Given the description of an element on the screen output the (x, y) to click on. 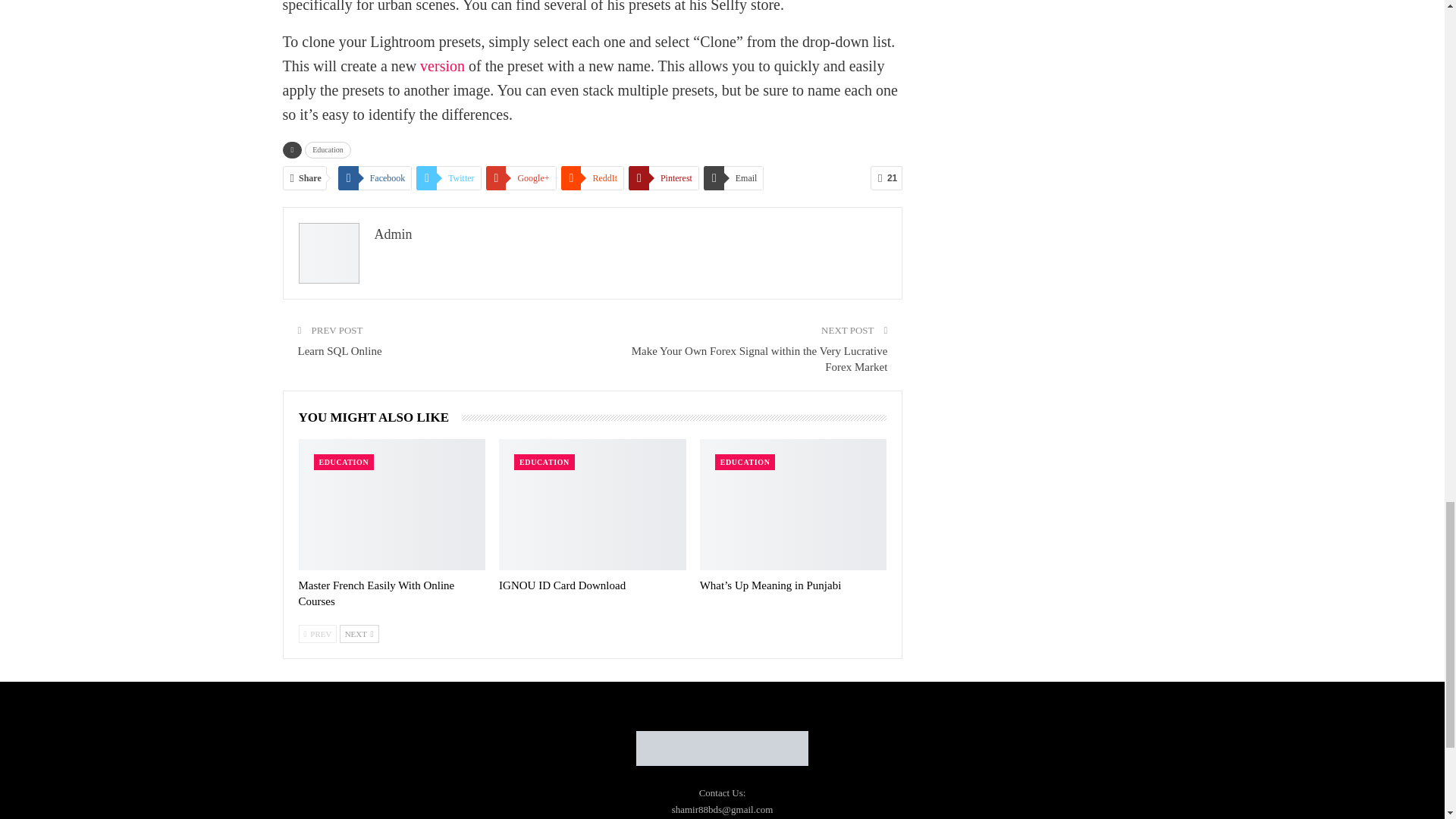
Master French Easily With Online Courses (392, 504)
Next (358, 633)
IGNOU ID Card Download (592, 504)
IGNOU ID Card Download (562, 585)
Master French Easily With Online Courses (376, 593)
Previous (317, 633)
